Given the description of an element on the screen output the (x, y) to click on. 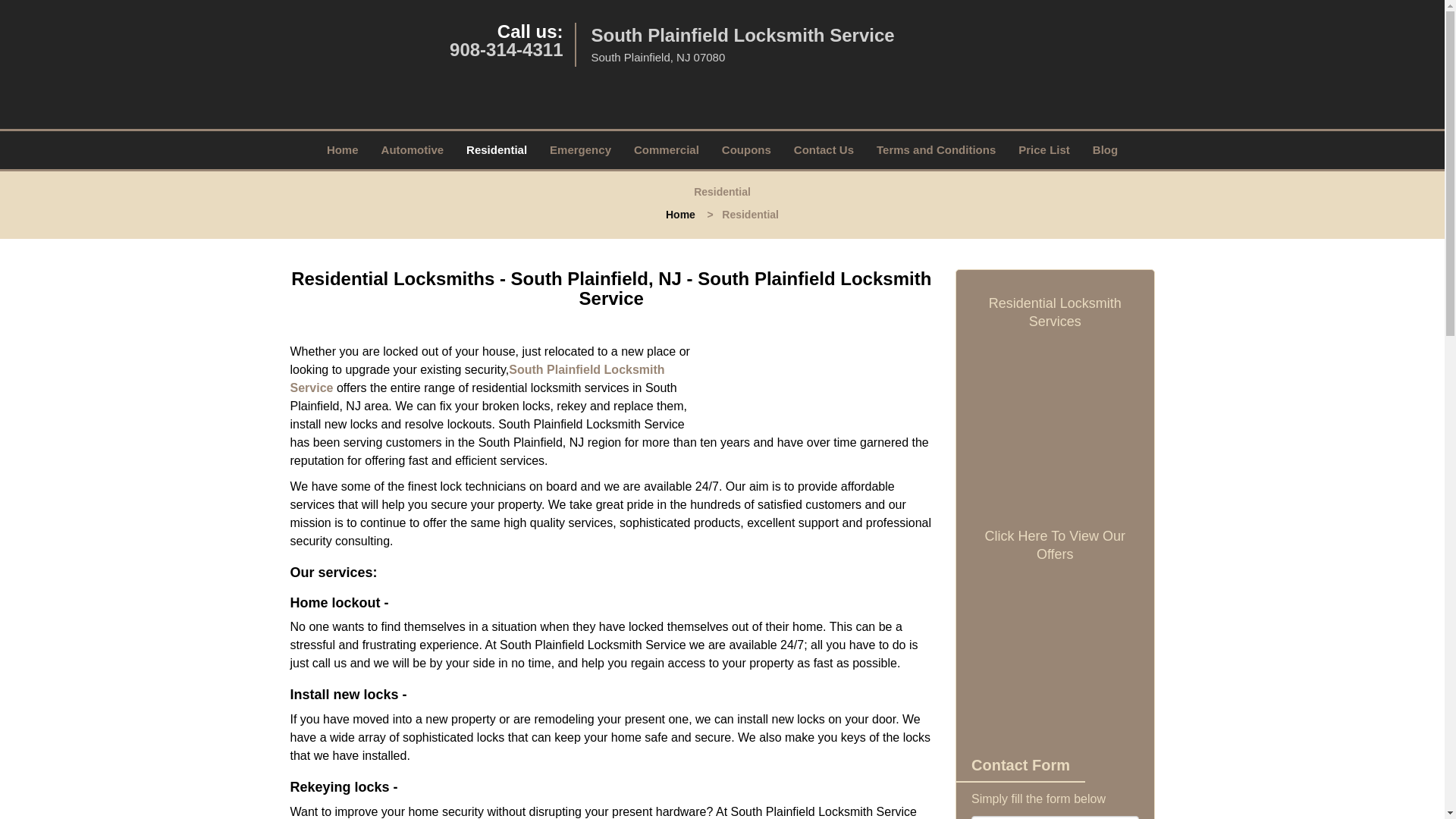
Click Here To View Our Offers (1054, 545)
Automotive (412, 149)
South Plainfield Locksmith Service (476, 378)
Name Field required (1054, 817)
Home (680, 214)
Coupons (746, 149)
Residential Locksmith Services (1054, 312)
Contact Us (823, 149)
Terms and Conditions (935, 149)
Commercial (666, 149)
908-314-4311 (505, 49)
Residential (496, 149)
Blog (1105, 149)
Price List (1044, 149)
Home (342, 149)
